Given the description of an element on the screen output the (x, y) to click on. 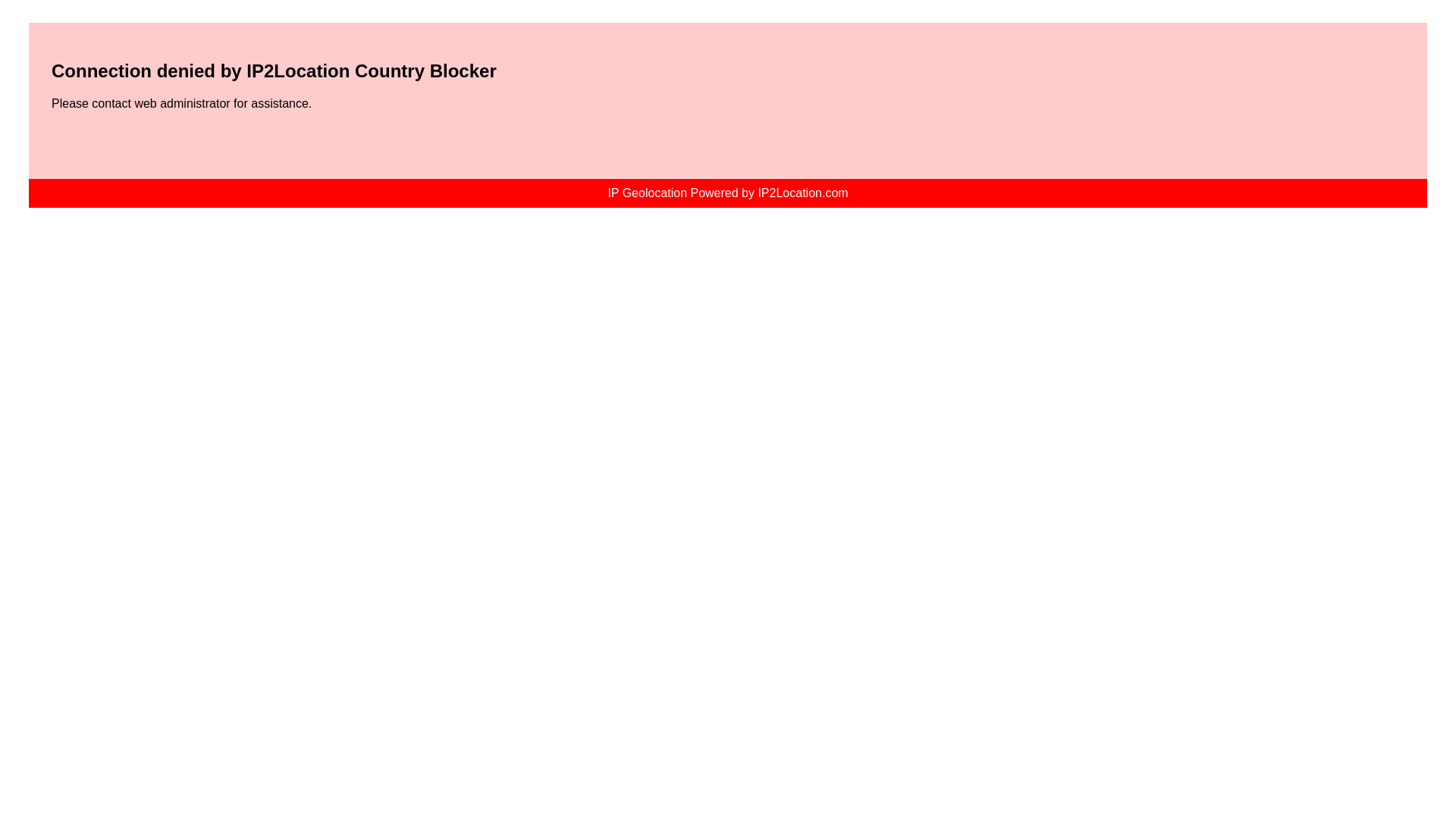
IP Geolocation Powered by IP2Location.com (727, 192)
